Given the description of an element on the screen output the (x, y) to click on. 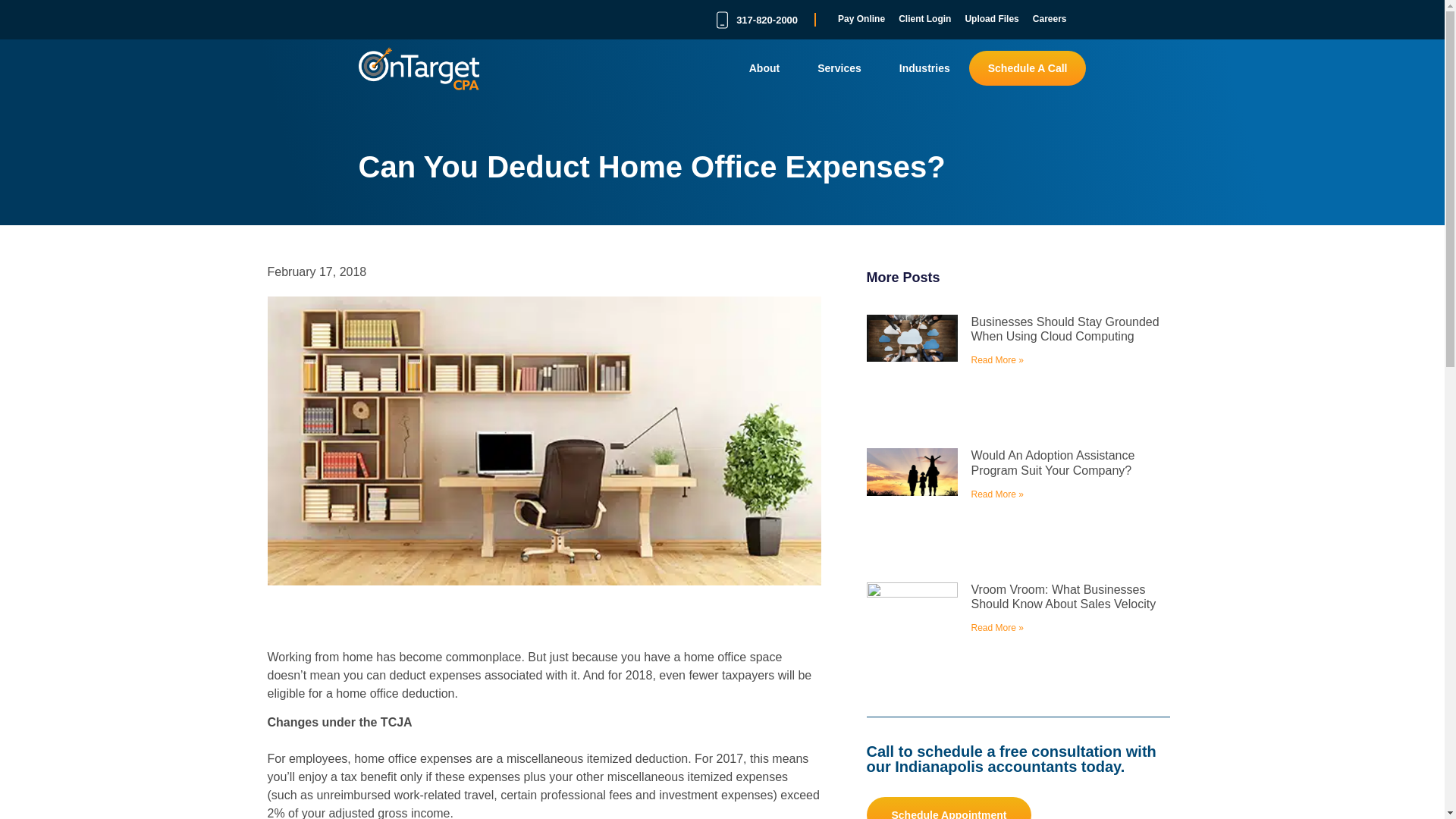
Industries (924, 67)
Pay Online (861, 19)
Careers (1050, 19)
Businesses Should Stay Grounded When Using Cloud Computing (1064, 329)
February 17, 2018 (316, 271)
Upload Files (991, 19)
Would An Adoption Assistance Program Suit Your Company? (1052, 461)
About (763, 67)
Schedule A Call (1027, 67)
